Given the description of an element on the screen output the (x, y) to click on. 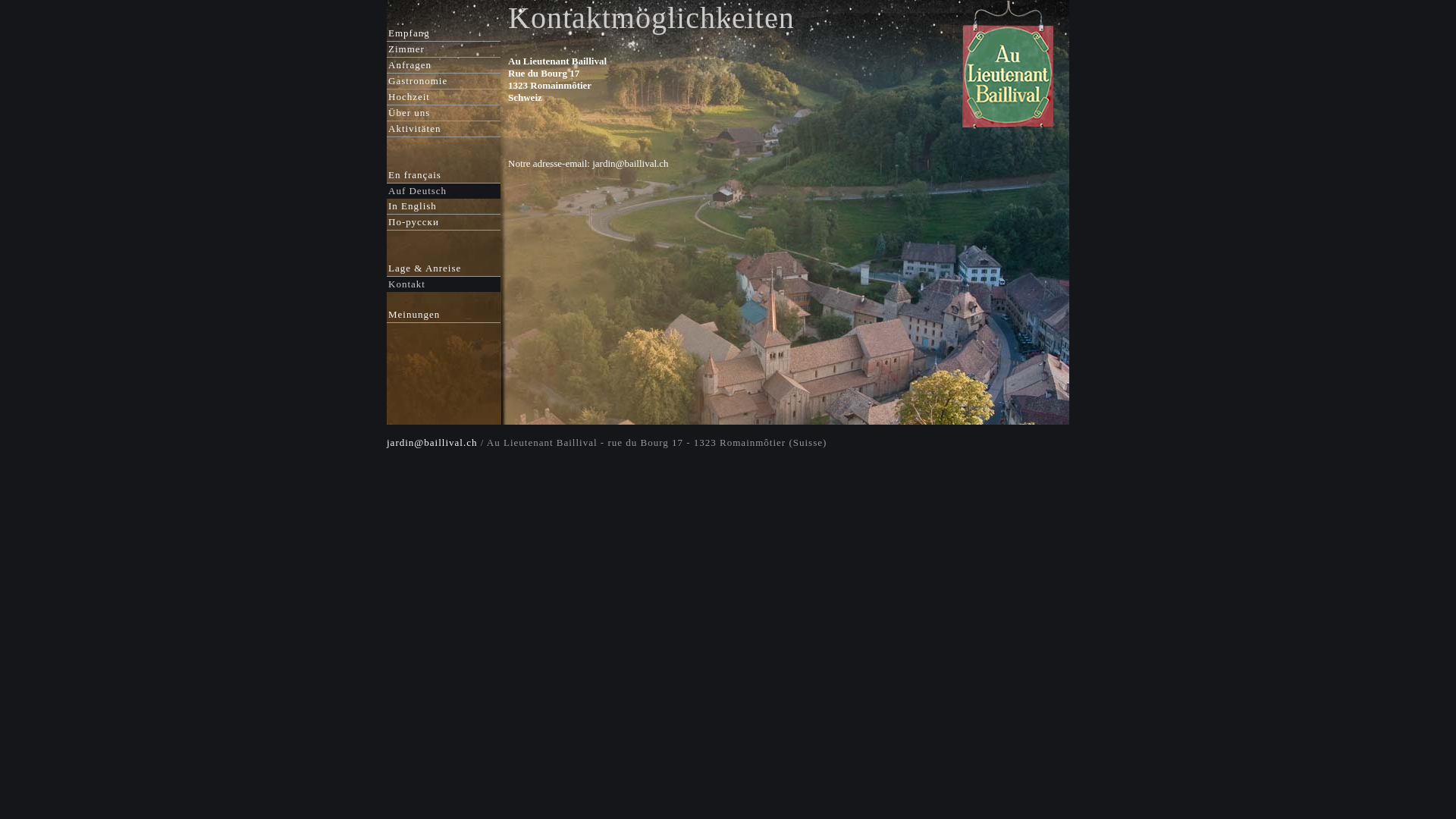
In English Element type: text (412, 205)
Zimmer Element type: text (406, 48)
Lage & Anreise Element type: text (424, 267)
Zwei Seiten Element type: hover (1008, 155)
Empfang Element type: text (408, 32)
Gastronomie Element type: text (417, 80)
Notre adresse-email: jardin@baillival.ch Element type: text (588, 163)
jardin@baillival.ch Element type: text (431, 448)
Hochzeit Element type: text (408, 96)
Meinungen Element type: text (413, 314)
Anfragen Element type: text (409, 64)
